Given the description of an element on the screen output the (x, y) to click on. 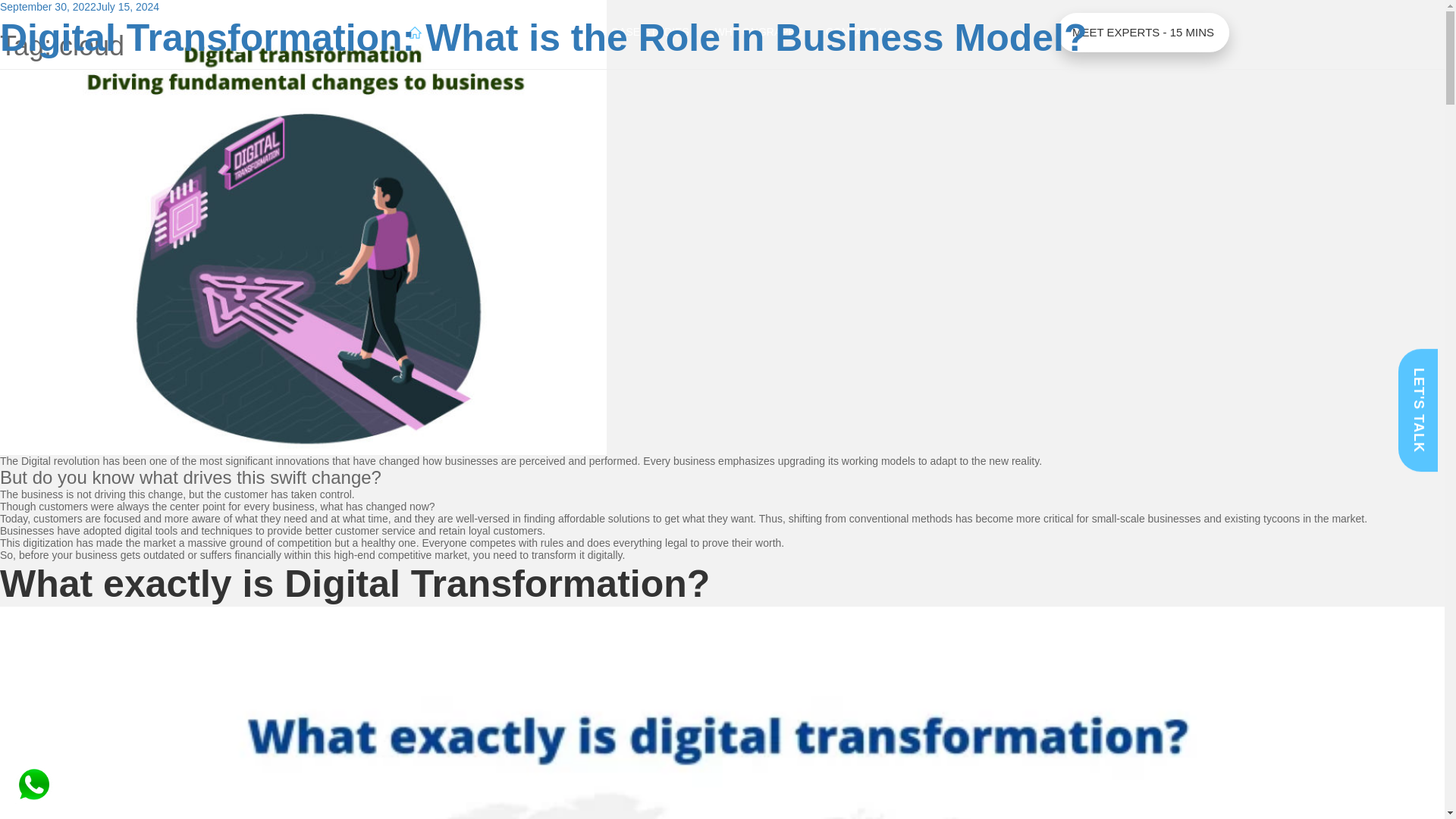
SOLUTION (557, 32)
SERVICES (474, 32)
What exactly is Digital Transformation? (355, 583)
